Given the description of an element on the screen output the (x, y) to click on. 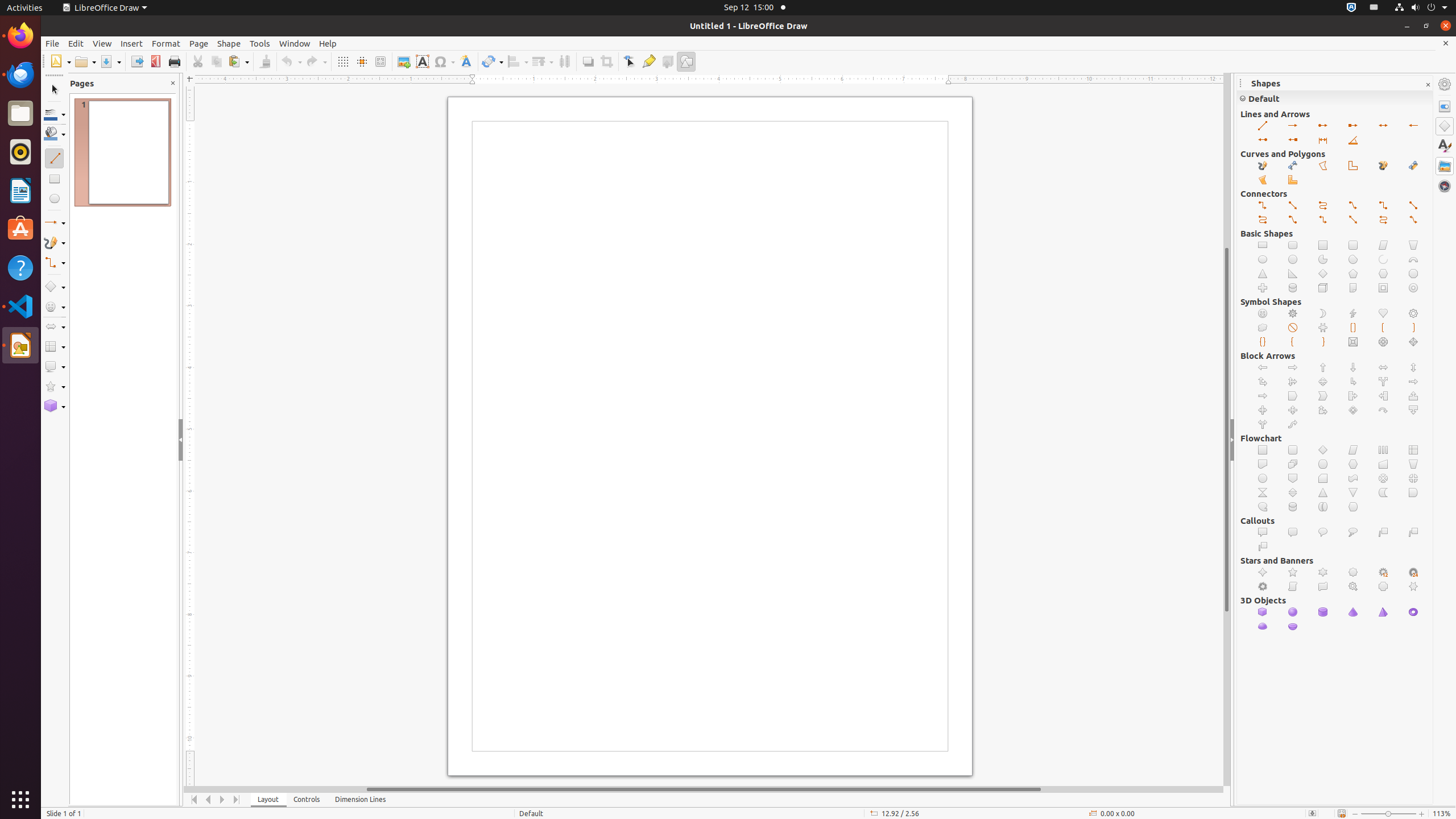
Glue Points Element type: push-button (648, 61)
Image Element type: push-button (403, 61)
Sun Element type: list-item (1292, 313)
Draw Functions Element type: toggle-button (685, 61)
Trapezoid Element type: list-item (1413, 245)
